Given the description of an element on the screen output the (x, y) to click on. 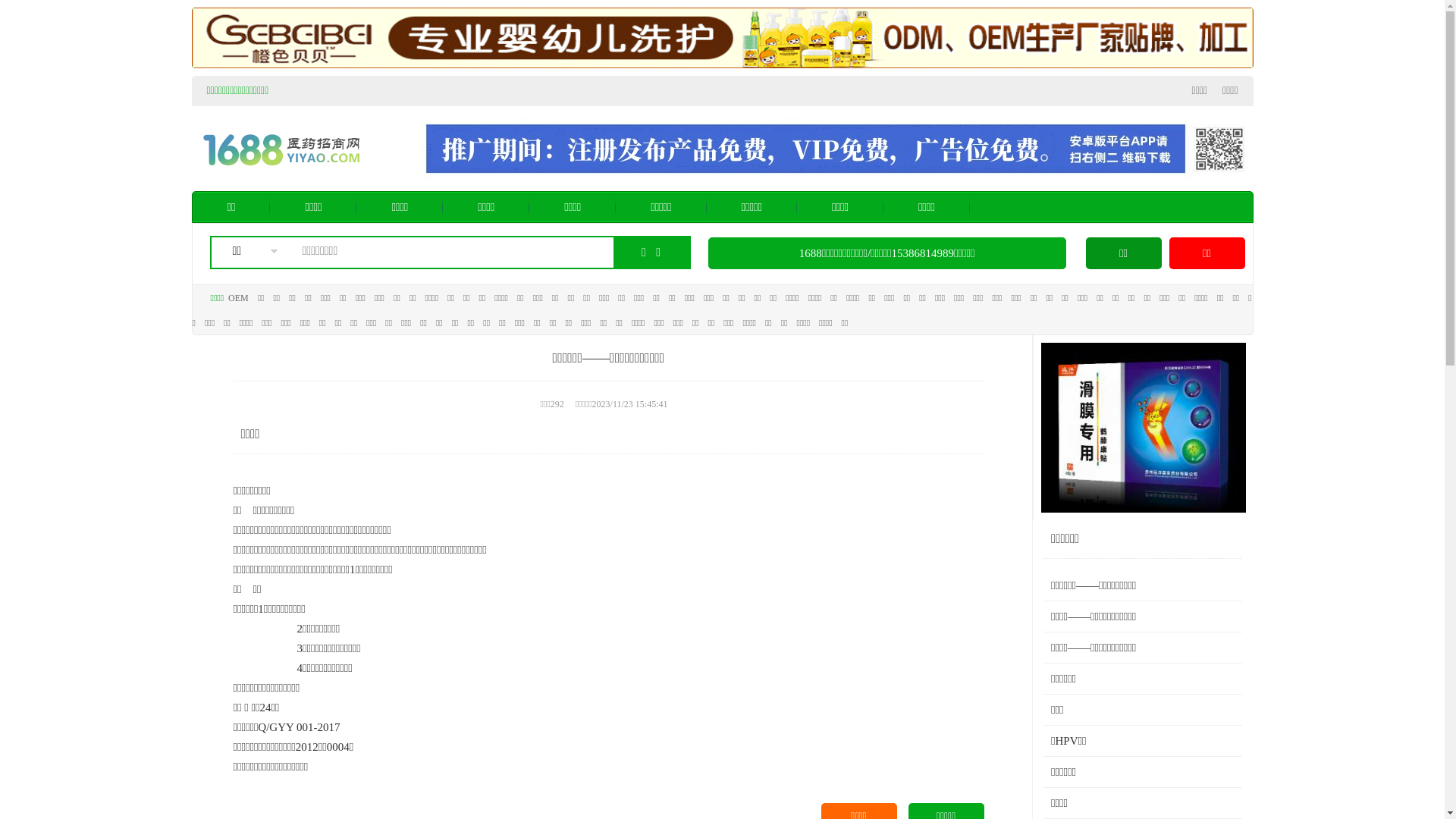
OEM Element type: text (238, 297)
